Given the description of an element on the screen output the (x, y) to click on. 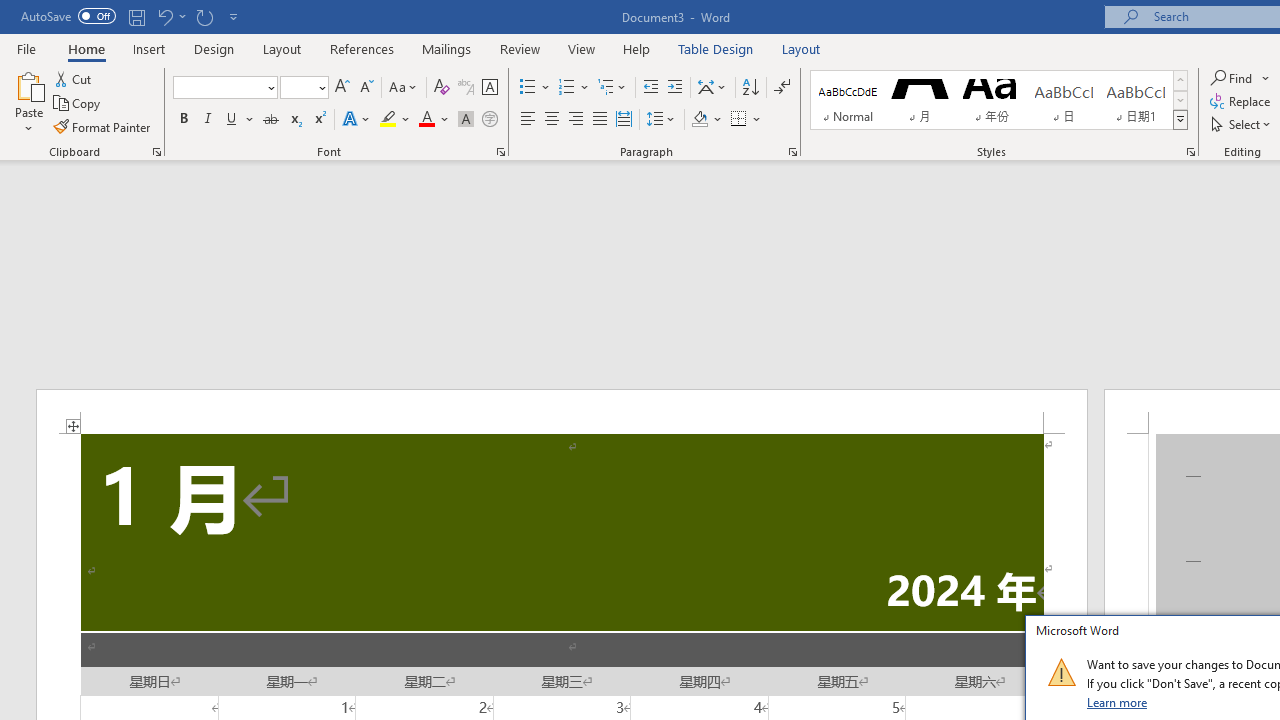
Learn more (1118, 702)
Styles... (1190, 151)
AutoSave (68, 16)
Grow Font (342, 87)
Row up (1179, 79)
Row Down (1179, 100)
Text Highlight Color Yellow (388, 119)
Multilevel List (613, 87)
Subscript (294, 119)
Layout (801, 48)
Character Border (489, 87)
Enclose Characters... (489, 119)
AutomationID: QuickStylesGallery (999, 99)
Cut (73, 78)
Replace... (1242, 101)
